Given the description of an element on the screen output the (x, y) to click on. 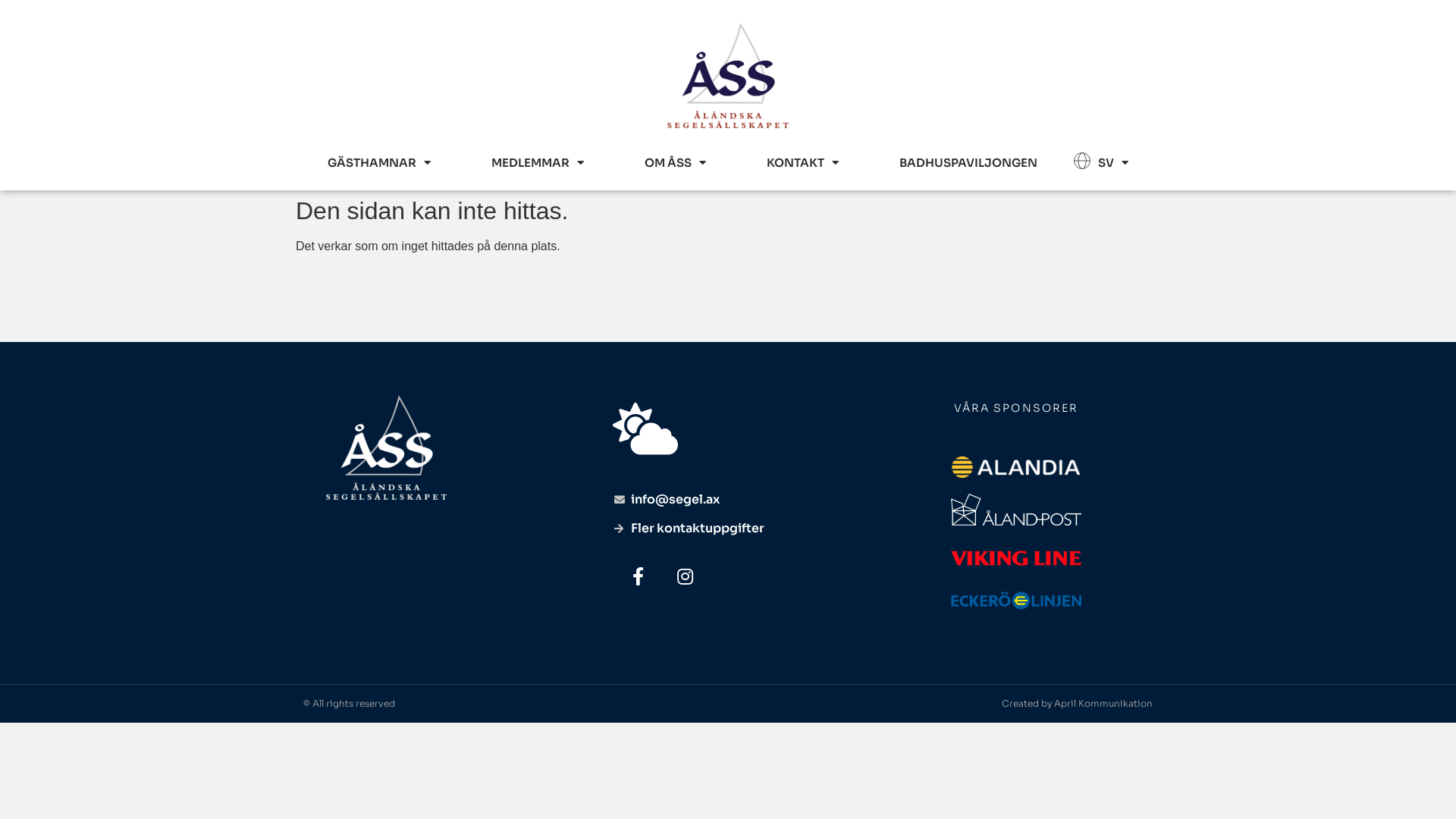
KONTAKT Element type: text (802, 162)
info@segel.ax Element type: text (727, 499)
SV Element type: text (1112, 162)
Fler kontaktuppgifter Element type: text (727, 528)
BADHUSPAVILJONGEN Element type: text (968, 162)
MEDLEMMAR Element type: text (537, 162)
